Given the description of an element on the screen output the (x, y) to click on. 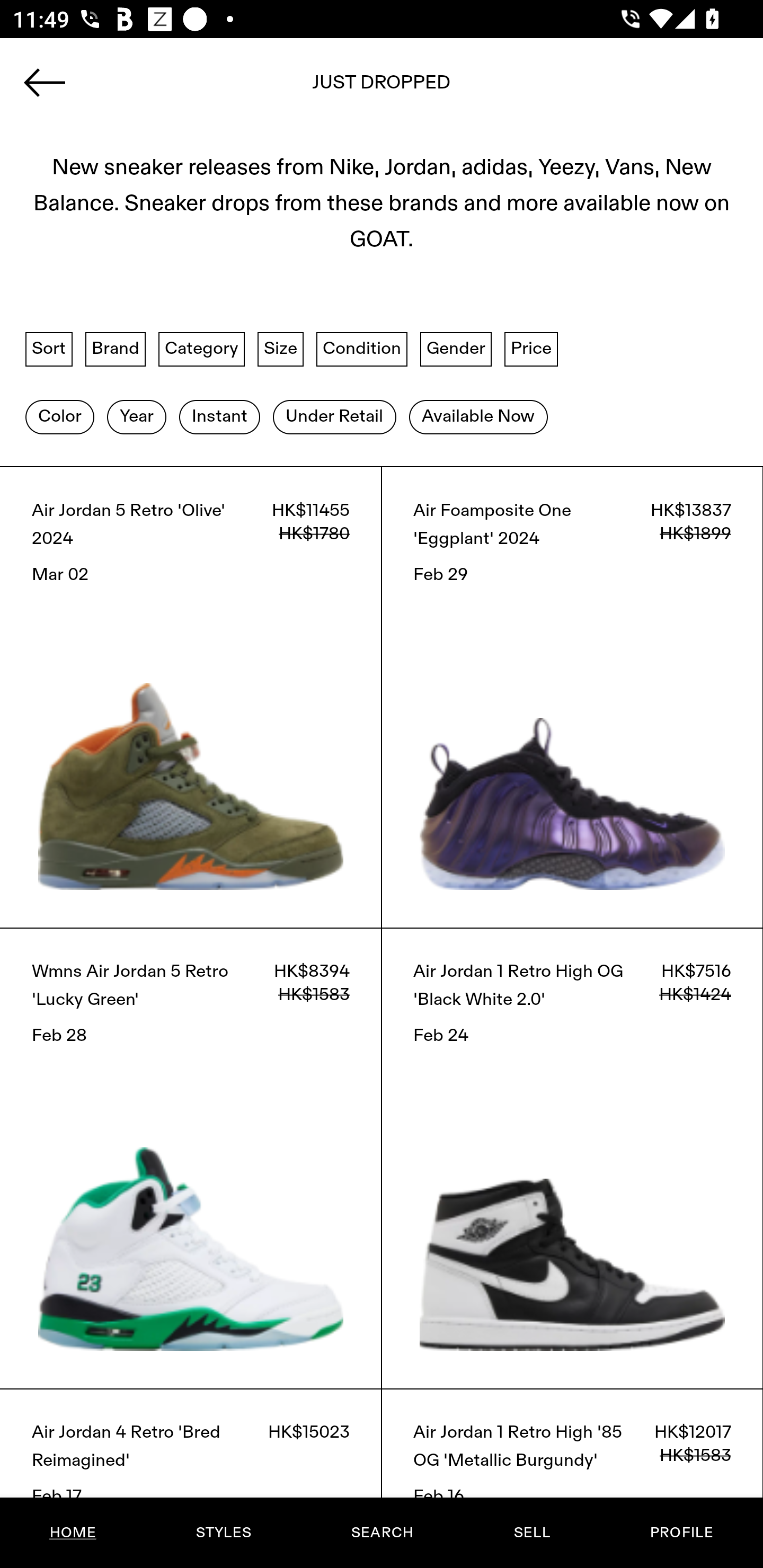
Search (381, 88)
Sort (48, 348)
Brand (115, 348)
Category (201, 348)
Size (280, 348)
Condition (361, 348)
Gender (455, 348)
Price (530, 348)
Color (59, 416)
Year (136, 416)
Instant (219, 416)
Under Retail (334, 416)
Available Now (477, 416)
HOME (72, 1532)
STYLES (222, 1532)
SEARCH (381, 1532)
SELL (531, 1532)
PROFILE (681, 1532)
